Given the description of an element on the screen output the (x, y) to click on. 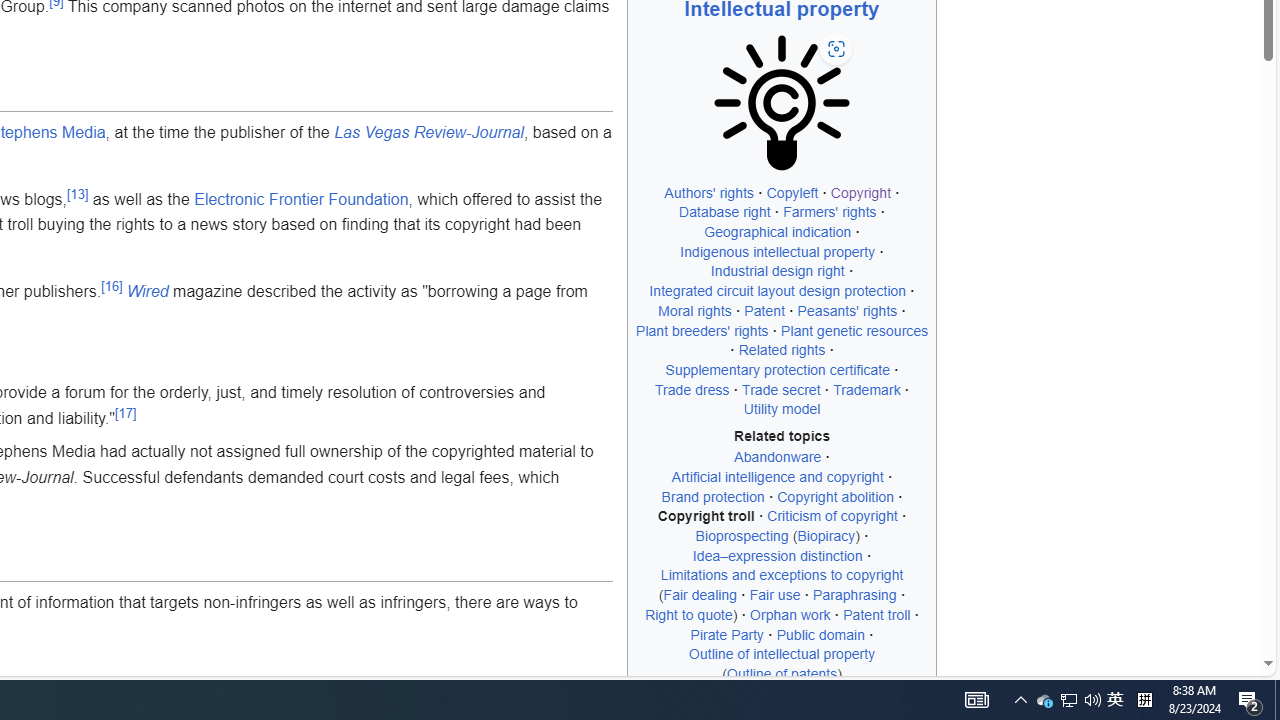
Plant breeders' rights (701, 330)
(Outline of patents) (782, 673)
Las Vegas Review-Journal (428, 132)
Paraphrasing (854, 595)
Electronic Frontier Foundation (301, 199)
Outline of intellectual property (Outline of patents) (781, 663)
Trademark (867, 389)
Utility model (781, 409)
